Given the description of an element on the screen output the (x, y) to click on. 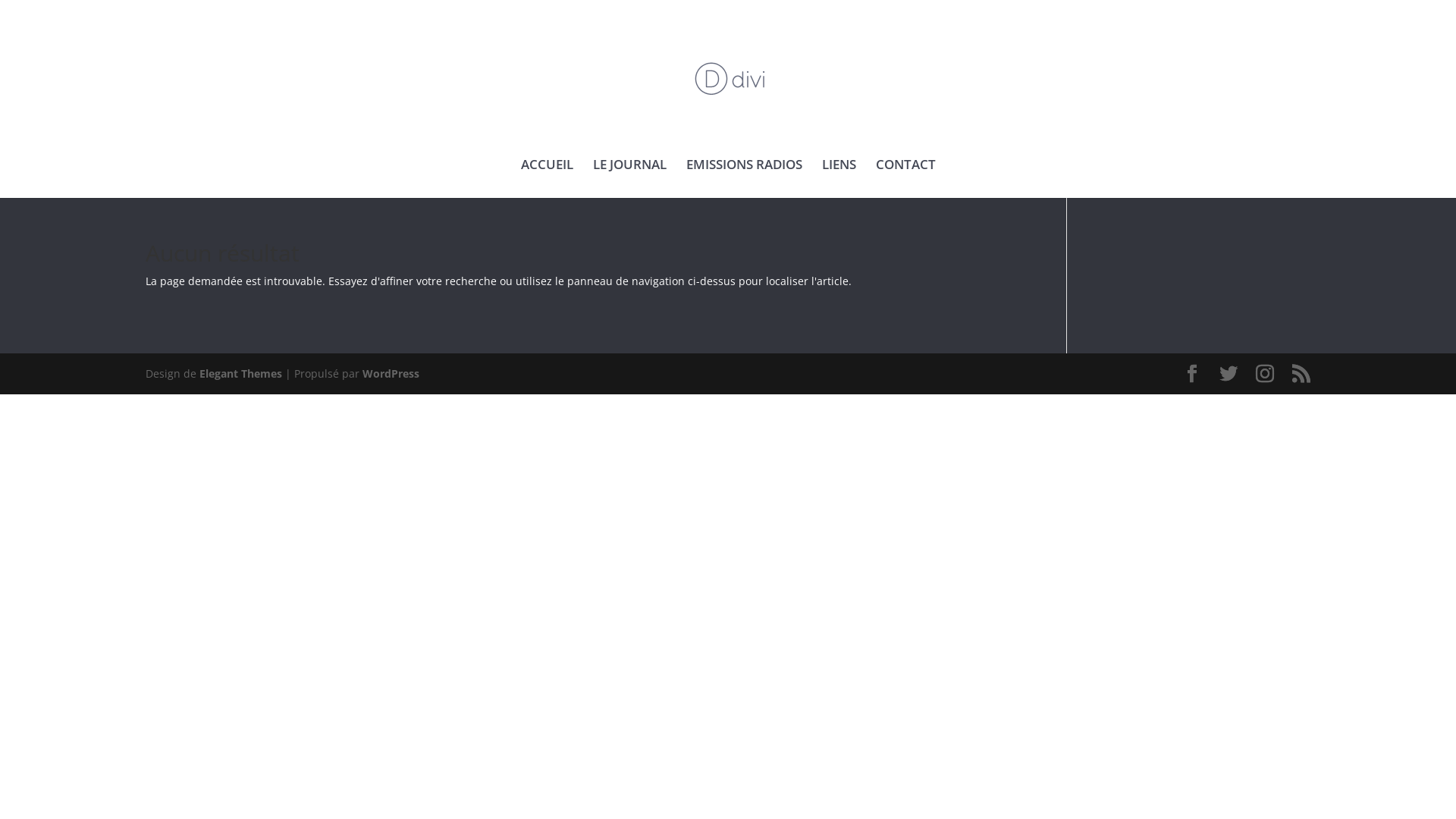
CONTACT Element type: text (905, 178)
LE JOURNAL Element type: text (629, 178)
WordPress Element type: text (390, 373)
ACCUEIL Element type: text (546, 178)
Elegant Themes Element type: text (240, 373)
LIENS Element type: text (839, 178)
EMISSIONS RADIOS Element type: text (743, 178)
